Given the description of an element on the screen output the (x, y) to click on. 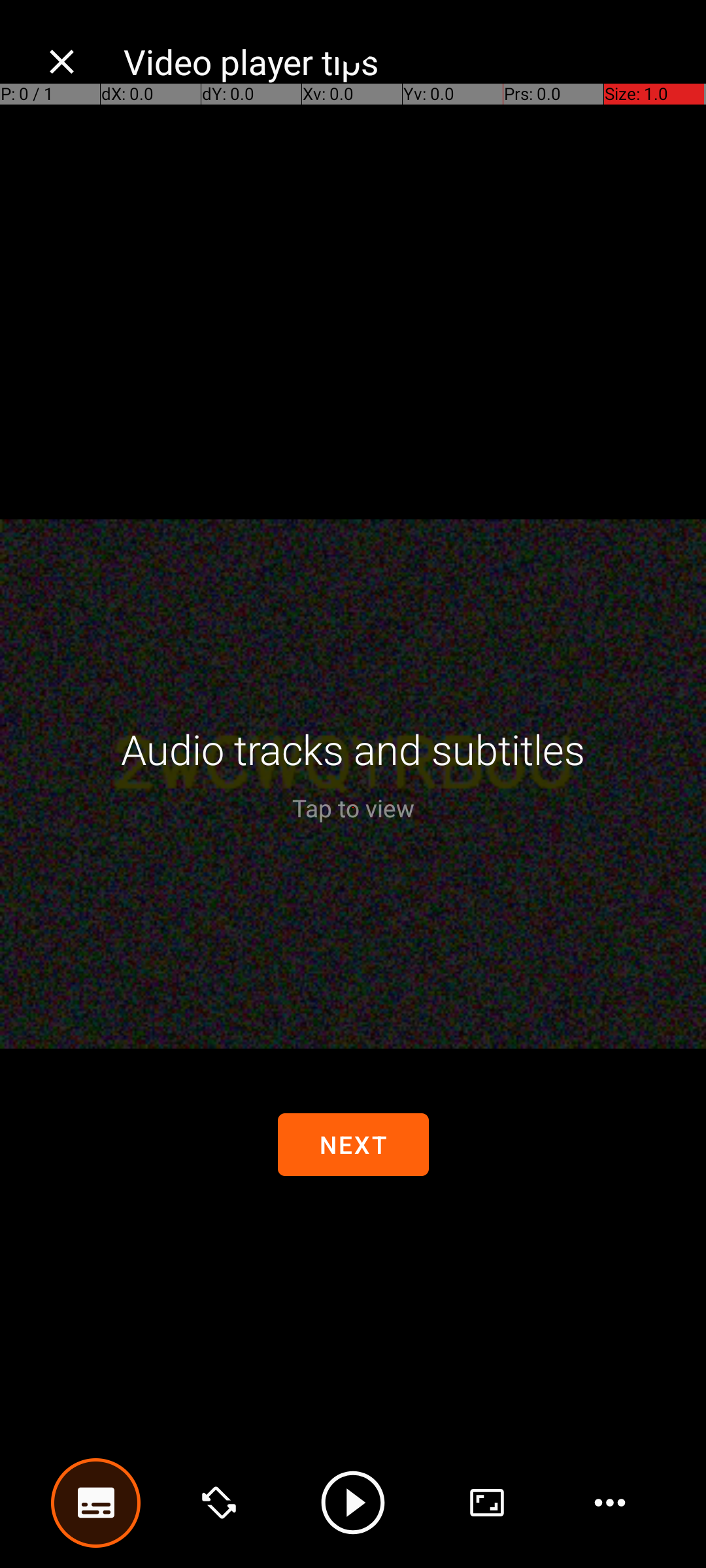
Video player. Tap to show controls. Tap the back button to hide them Element type: android.widget.FrameLayout (353, 784)
Video player tips Element type: android.widget.TextView (400, 61)
Audio tracks and subtitles Element type: android.widget.TextView (352, 748)
Tap to view Element type: android.widget.TextView (353, 807)
advanced options Element type: android.widget.ImageView (486, 1502)
